Given the description of an element on the screen output the (x, y) to click on. 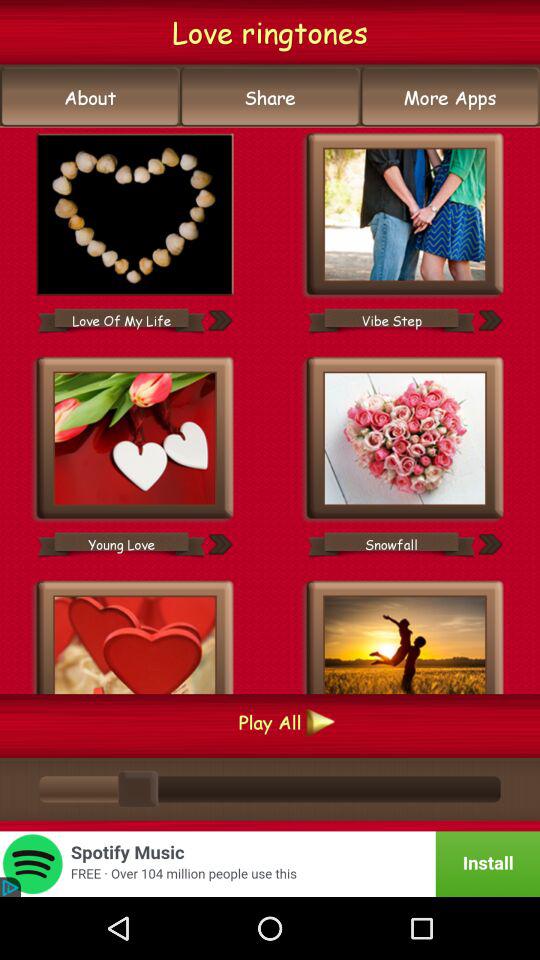
launch snowfall (391, 544)
